Given the description of an element on the screen output the (x, y) to click on. 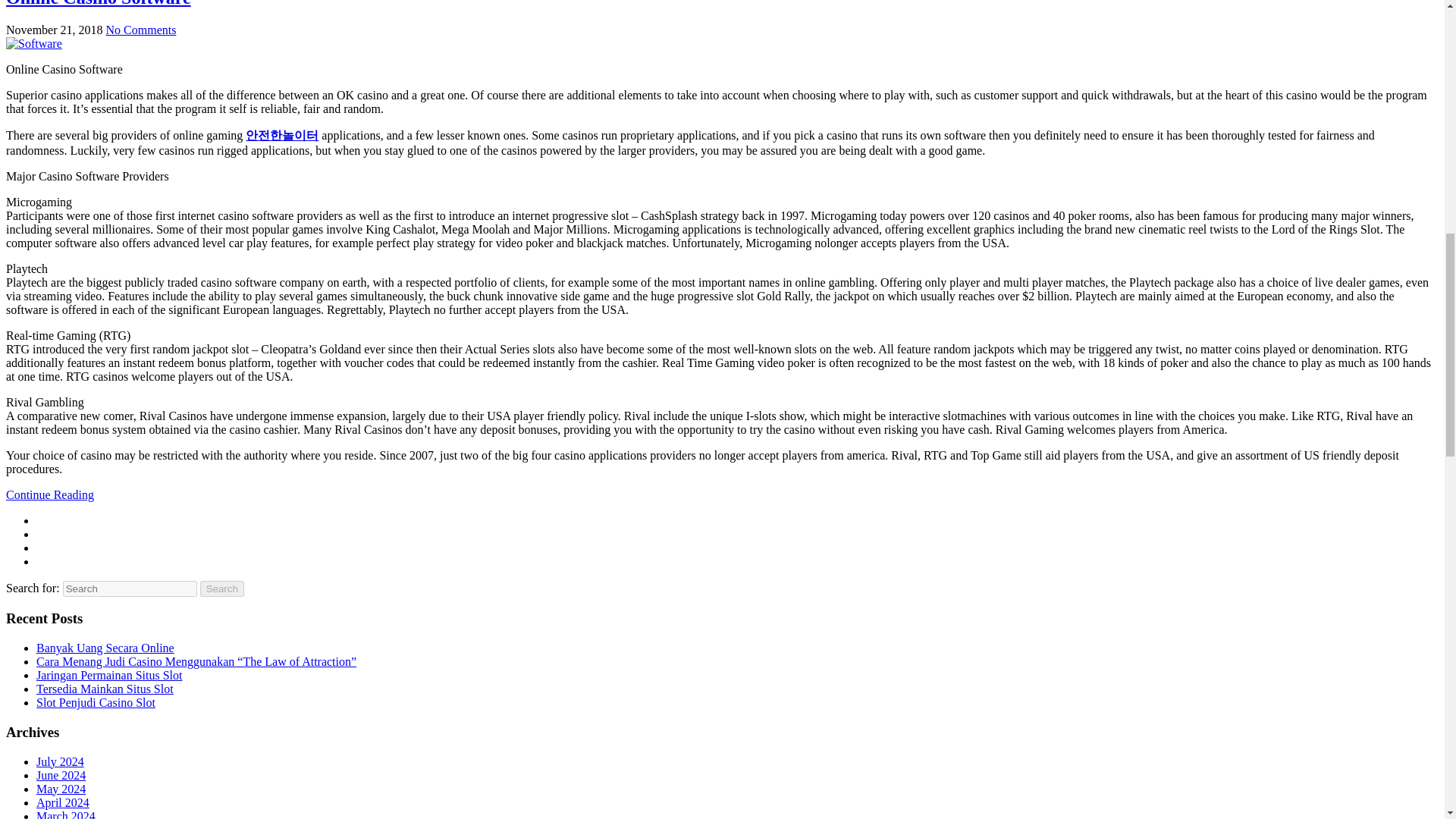
Slot Penjudi Casino Slot (95, 702)
Online Casino Software (97, 3)
Tersedia Mainkan Situs Slot (104, 688)
Banyak Uang Secara Online (105, 647)
Continue Reading (49, 494)
Jaringan Permainan Situs Slot (109, 675)
March 2024 (66, 814)
July 2024 (60, 761)
May 2024 (60, 788)
No Comments (141, 29)
April 2024 (62, 802)
Search (222, 588)
June 2024 (60, 775)
